Given the description of an element on the screen output the (x, y) to click on. 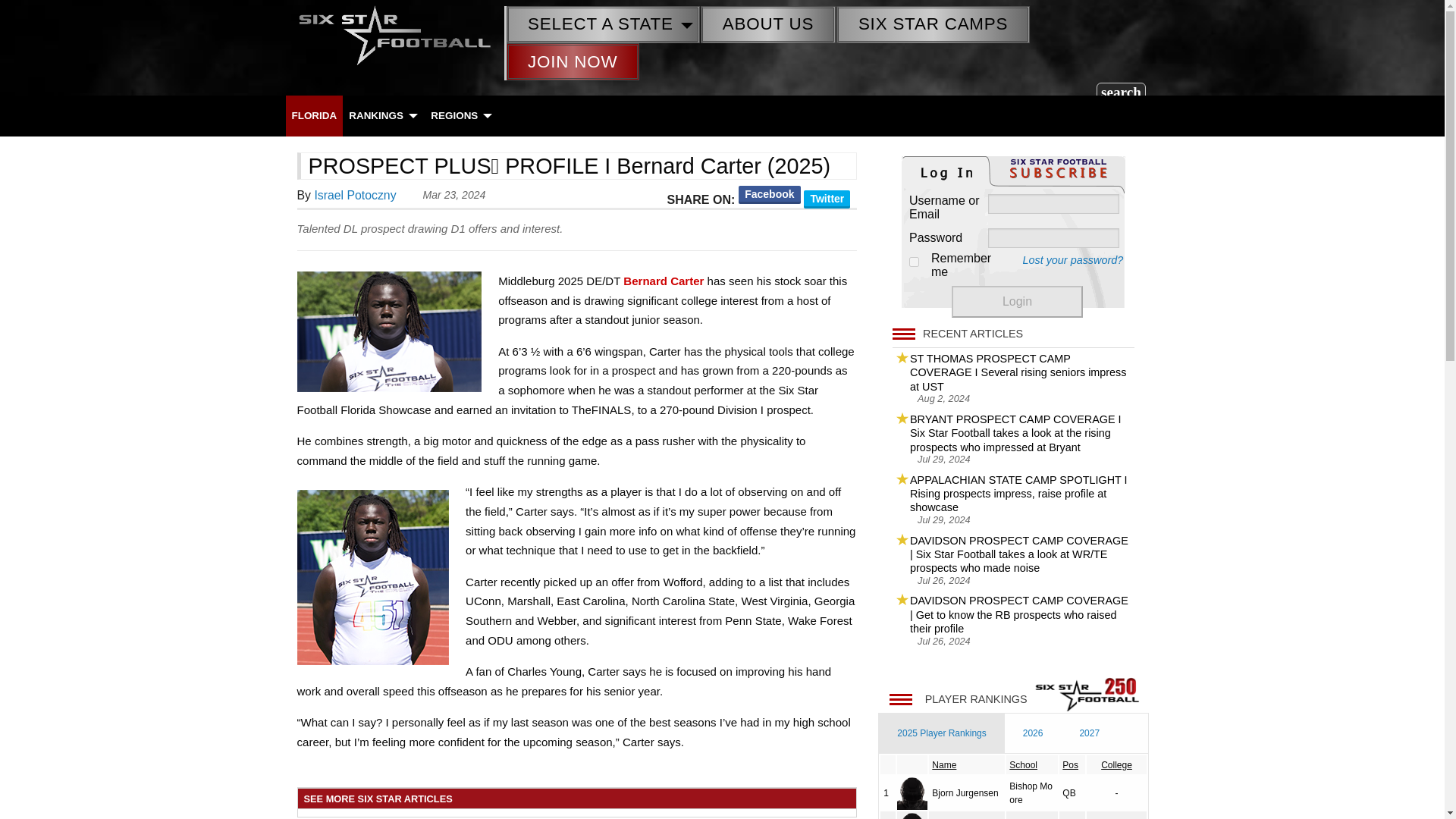
SELECT A STATE (602, 24)
ABOUT US (767, 24)
Login (1017, 301)
search (1120, 91)
RANKINGS (382, 116)
SIX STAR CAMPS (932, 24)
REGIONS (460, 116)
JOIN NOW (572, 61)
FLORIDA (313, 116)
View all articles by Israel Potoczny (355, 195)
1 (913, 261)
Six Star Football - High School Football Prospects (395, 33)
Join Now (572, 61)
